Given the description of an element on the screen output the (x, y) to click on. 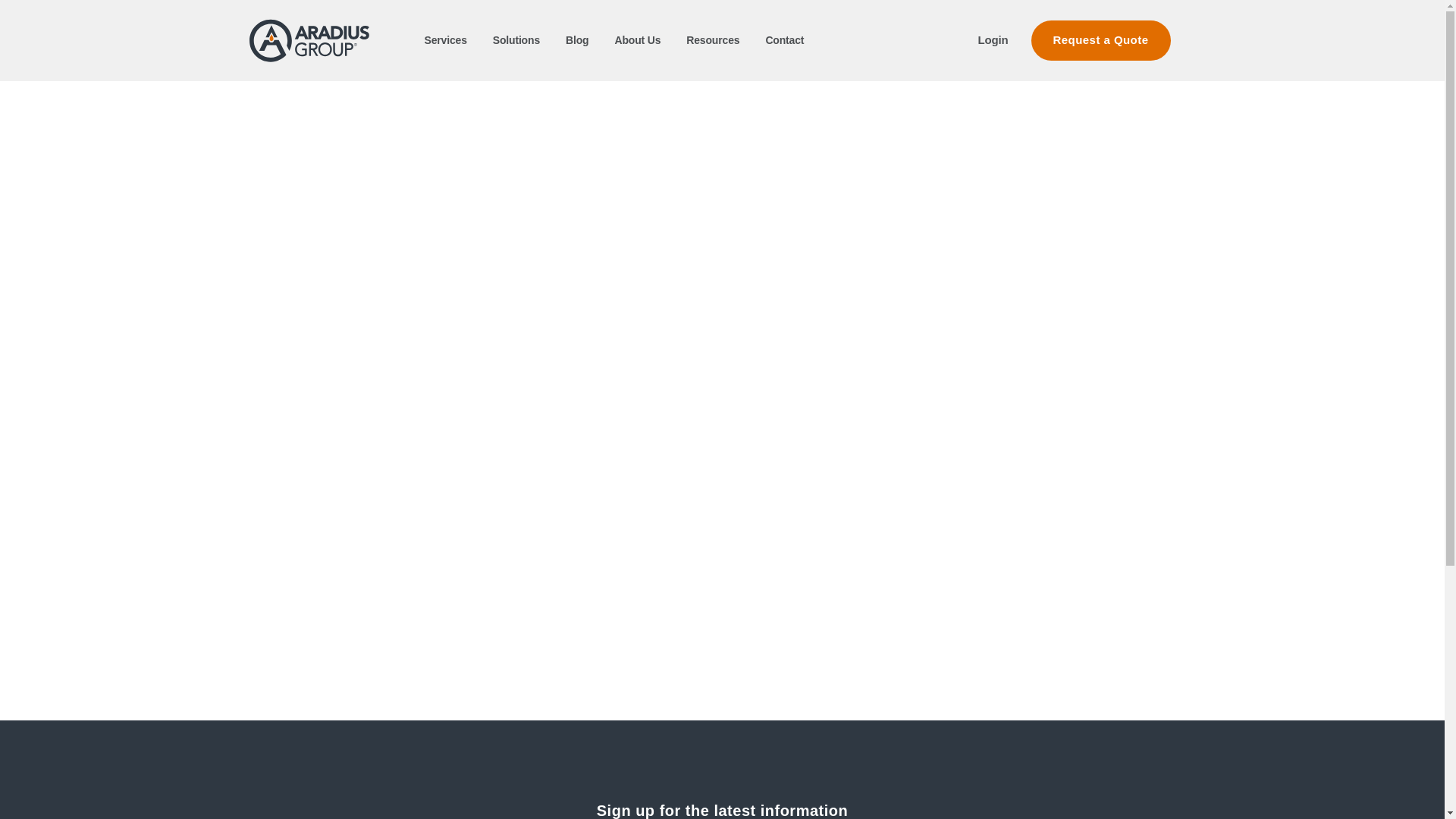
Contact (784, 39)
About Us (637, 39)
Login (993, 39)
Request a Quote (1100, 40)
Resources (712, 39)
Solutions (516, 39)
Services (446, 39)
Blog (577, 39)
